Given the description of an element on the screen output the (x, y) to click on. 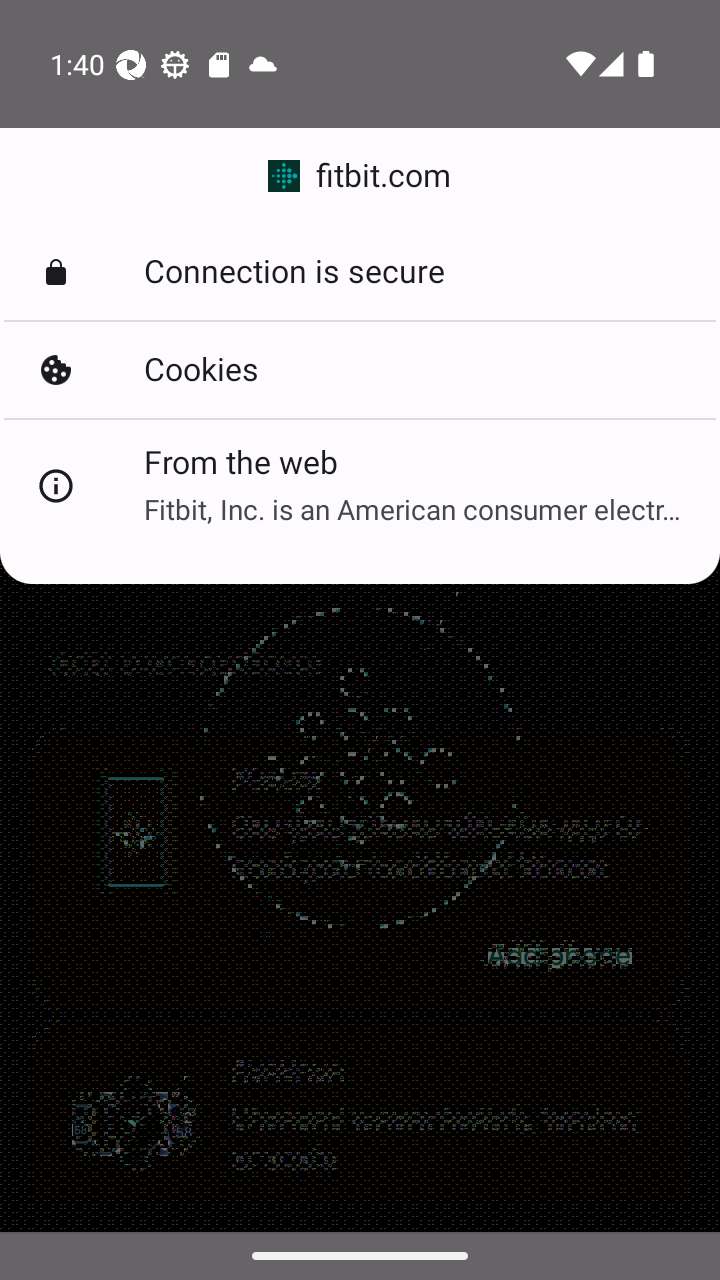
fitbit.com (360, 176)
Connection is secure (360, 272)
Cookies (360, 370)
